Given the description of an element on the screen output the (x, y) to click on. 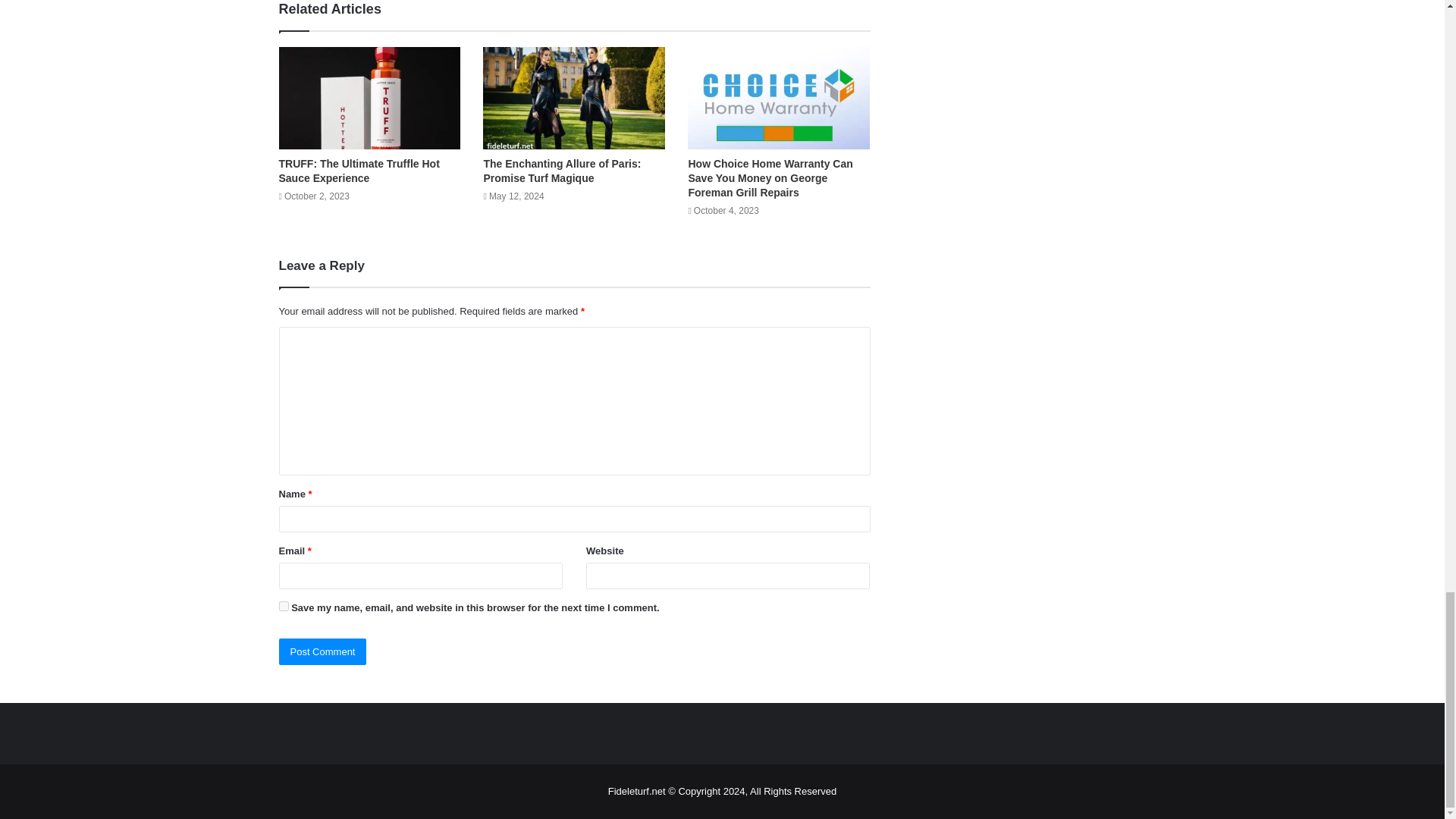
TRUFF: The Ultimate Truffle Hot Sauce Experience (359, 171)
Post Comment (322, 651)
Post Comment (322, 651)
yes (283, 605)
The Enchanting Allure of Paris: Promise Turf Magique (561, 171)
